Given the description of an element on the screen output the (x, y) to click on. 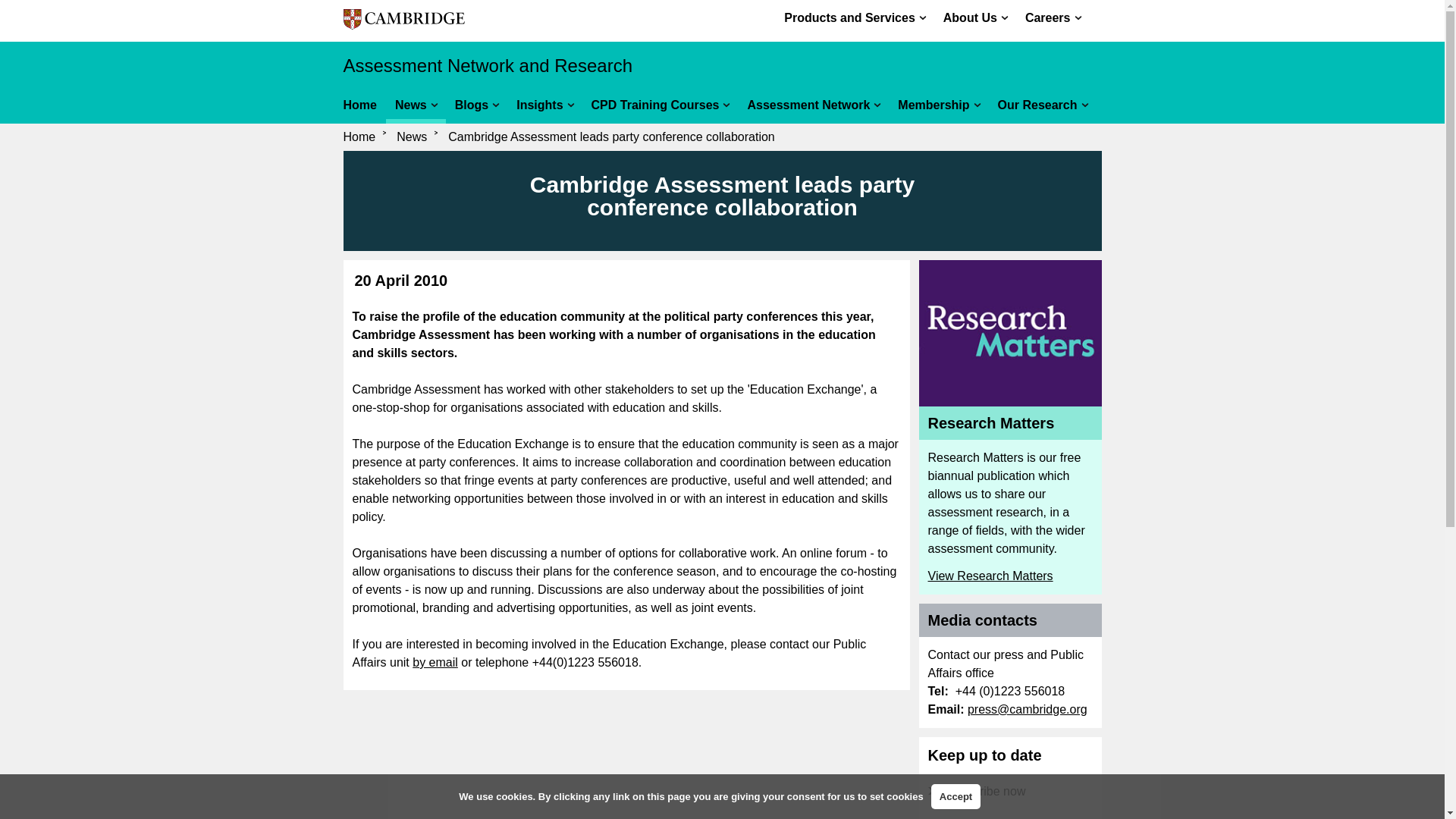
Careers (1057, 18)
Products and Services (859, 18)
Cambridge (403, 22)
About Us (979, 18)
Products and Services (859, 18)
About Us (979, 18)
